Given the description of an element on the screen output the (x, y) to click on. 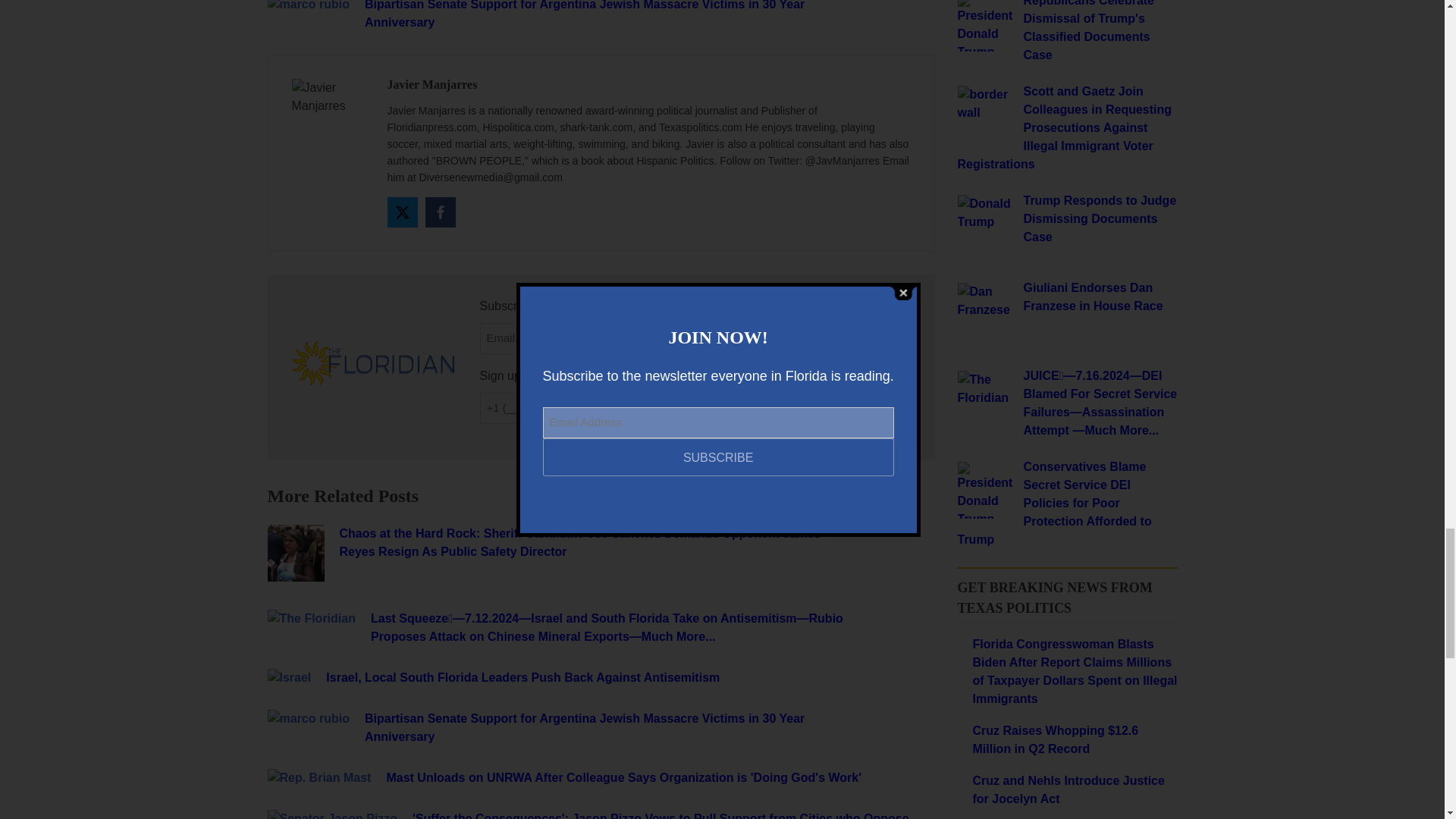
SUBSCRIBE TO SMS (817, 408)
Cruz and Nehls Introduce Justice for Jocelyn Act (1074, 790)
SUBSCRIBE (817, 337)
